Given the description of an element on the screen output the (x, y) to click on. 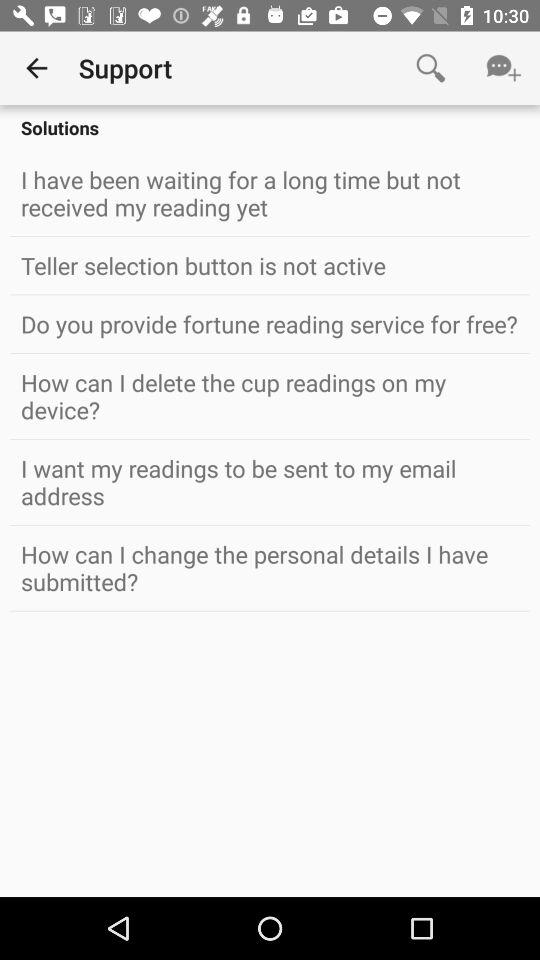
click icon above solutions item (503, 67)
